Given the description of an element on the screen output the (x, y) to click on. 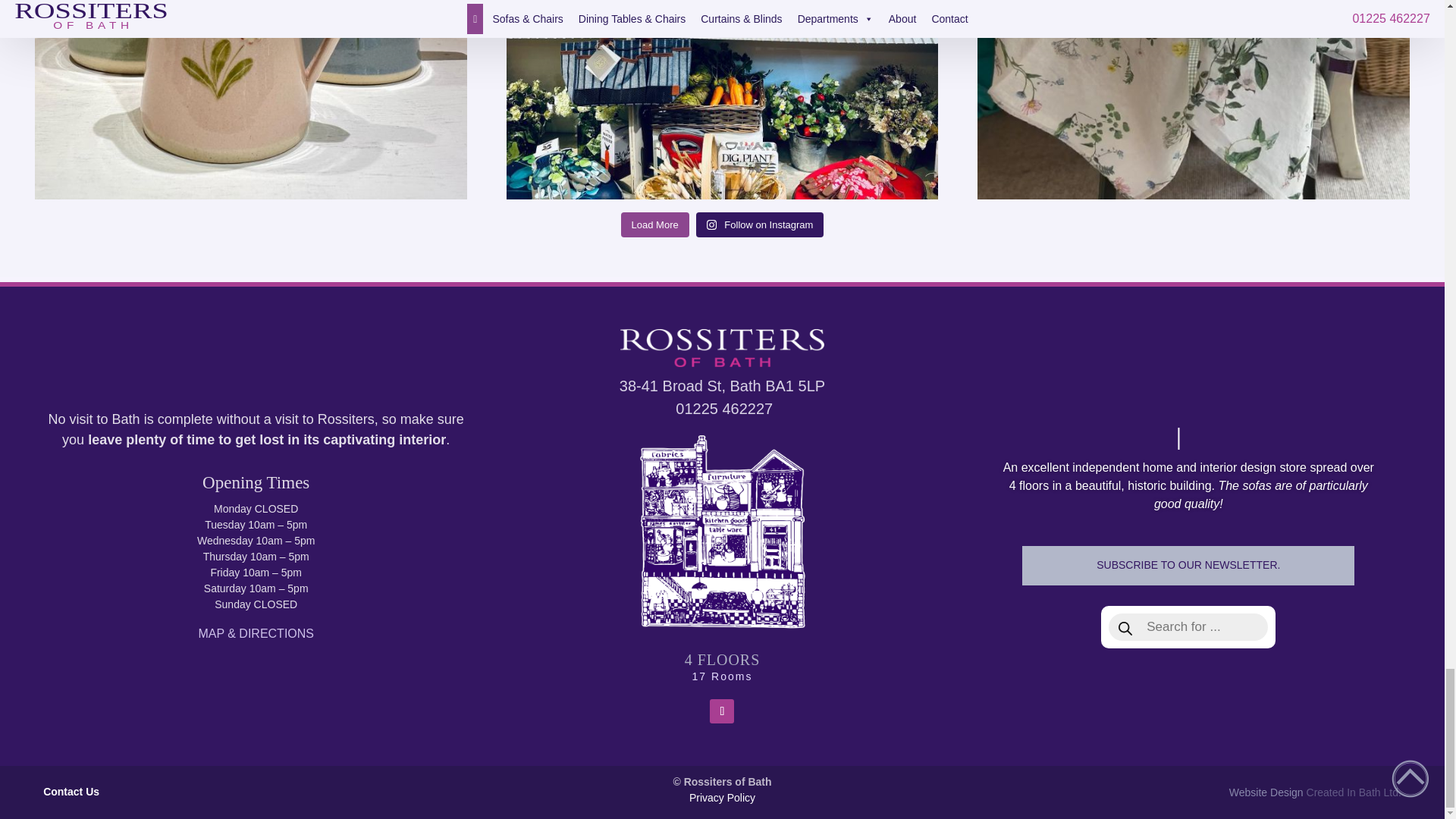
rossiters-logo (722, 347)
Follow on Instagram (721, 711)
Rossiters of Bath House Only Purple 1280 (721, 532)
